Given the description of an element on the screen output the (x, y) to click on. 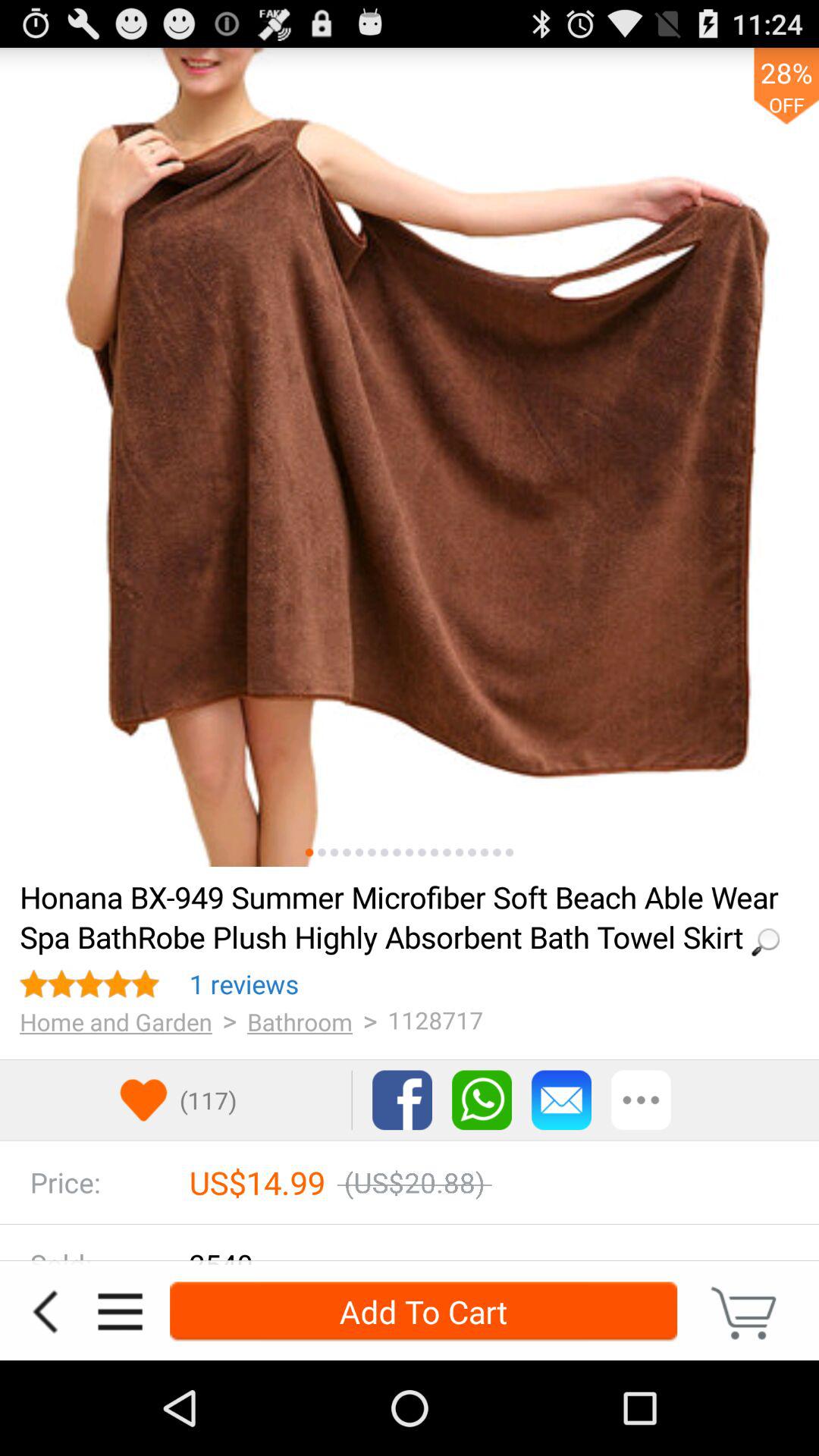
view image (484, 852)
